Given the description of an element on the screen output the (x, y) to click on. 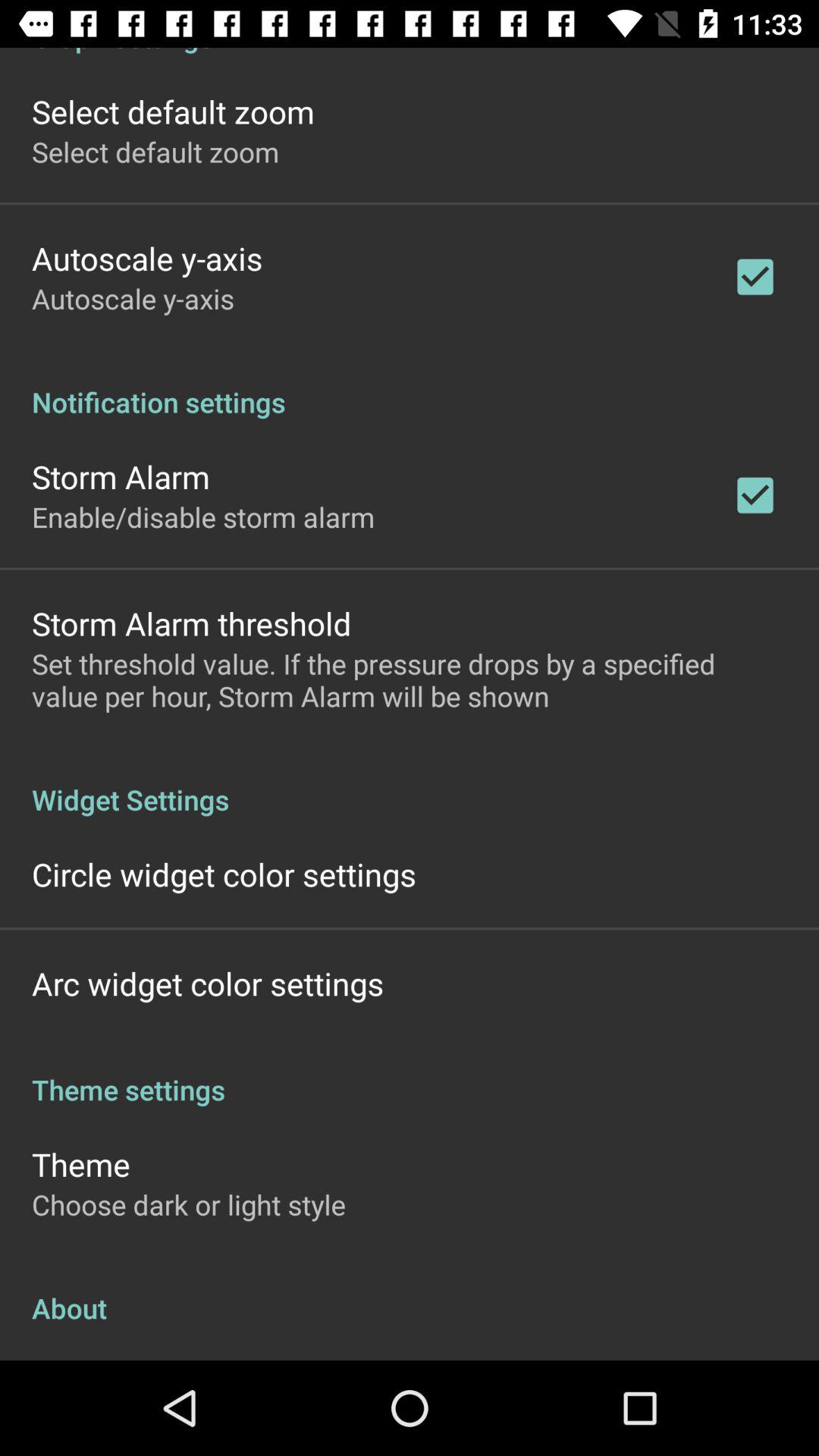
turn off icon below the storm alarm icon (202, 516)
